Given the description of an element on the screen output the (x, y) to click on. 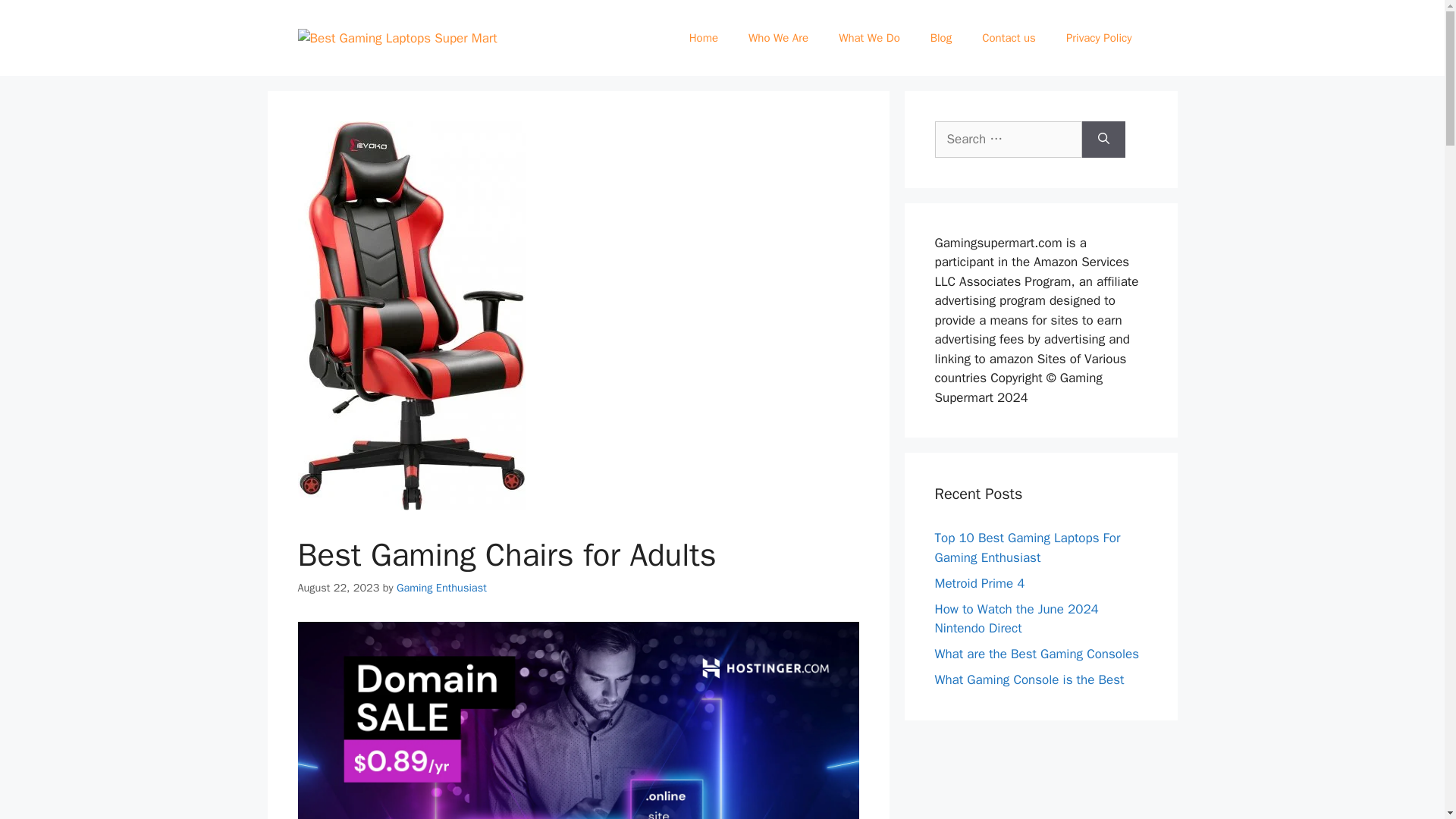
What are the Best Gaming Consoles (1036, 653)
Contact us (1008, 37)
Who We Are (778, 37)
Top 10 Best Gaming Laptops For Gaming Enthusiast (1026, 547)
Metroid Prime 4 (979, 582)
What We Do (869, 37)
View all posts by Gaming Enthusiast (441, 587)
Home (703, 37)
How to Watch the June 2024 Nintendo Direct (1015, 618)
Search for: (1007, 139)
